Given the description of an element on the screen output the (x, y) to click on. 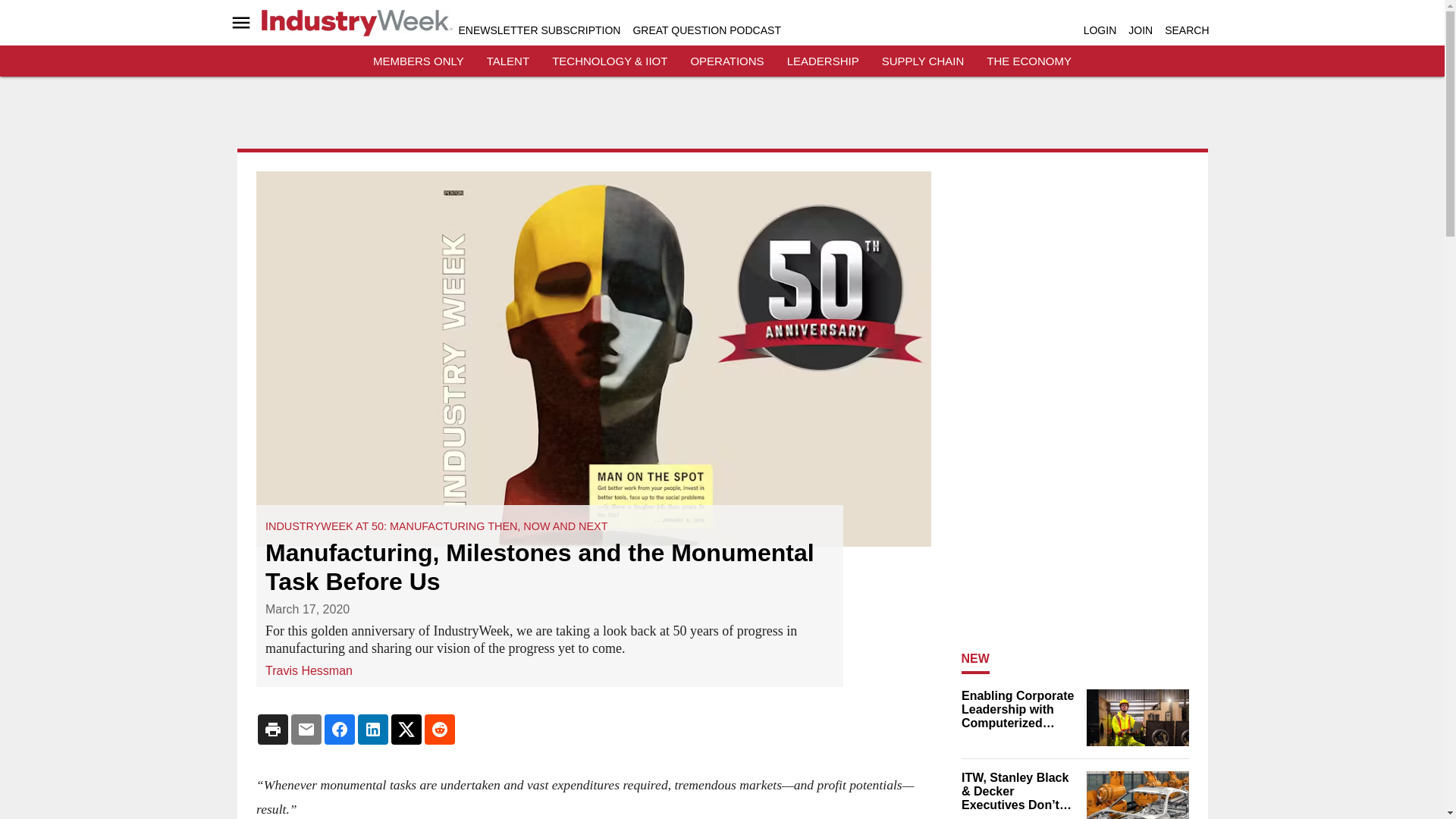
TALENT (507, 60)
GREAT QUESTION PODCAST (705, 30)
LOGIN (1099, 30)
SUPPLY CHAIN (922, 60)
SEARCH (1186, 30)
OPERATIONS (726, 60)
THE ECONOMY (1029, 60)
LEADERSHIP (823, 60)
MEMBERS ONLY (418, 60)
